Given the description of an element on the screen output the (x, y) to click on. 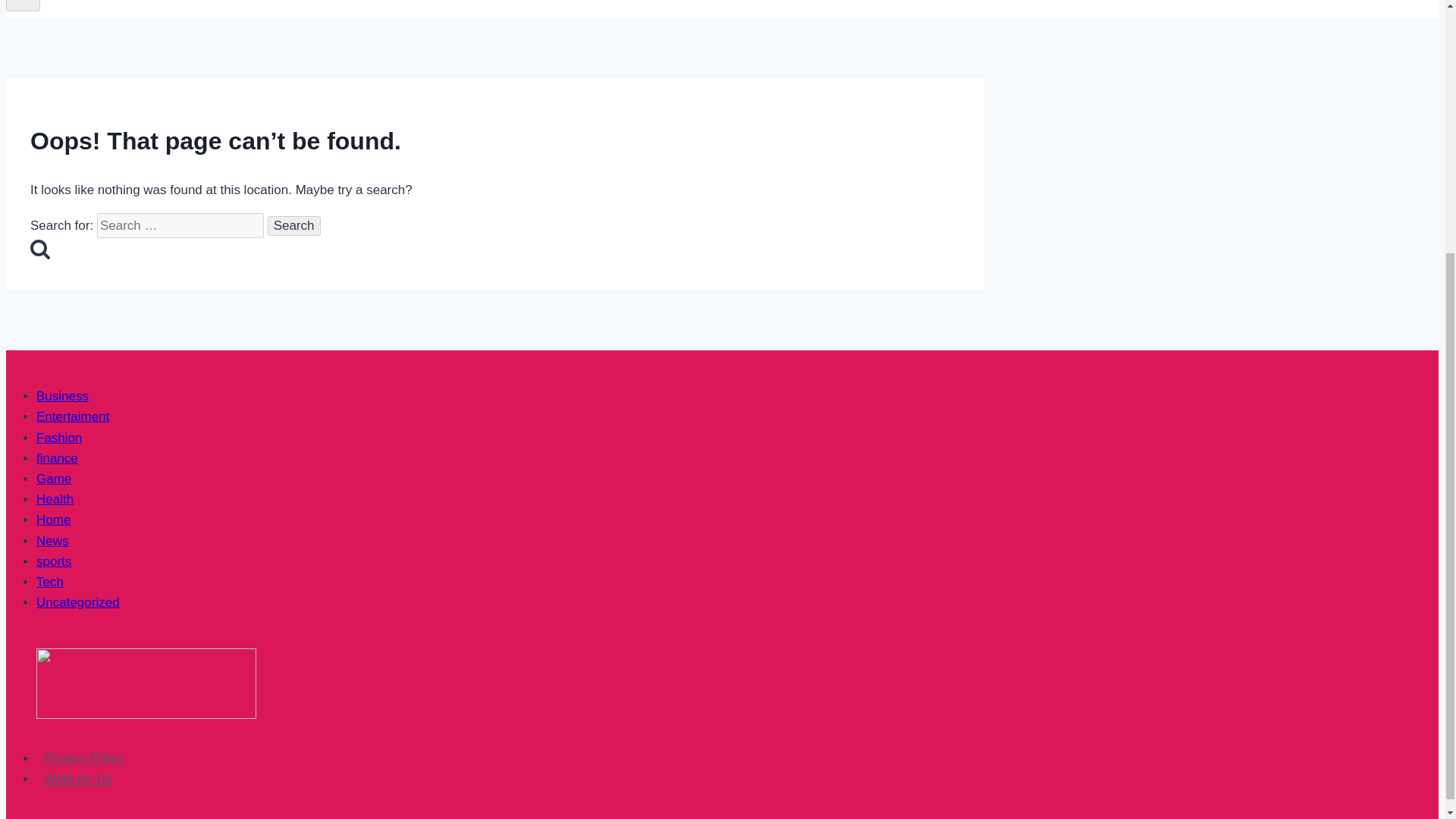
Privacy Policy (84, 757)
Search (293, 225)
Uncategorized (77, 602)
Search (39, 248)
News (52, 540)
Health (55, 499)
Fashion (58, 437)
sports (53, 561)
Toggle Menu (22, 5)
finance (57, 458)
